Given the description of an element on the screen output the (x, y) to click on. 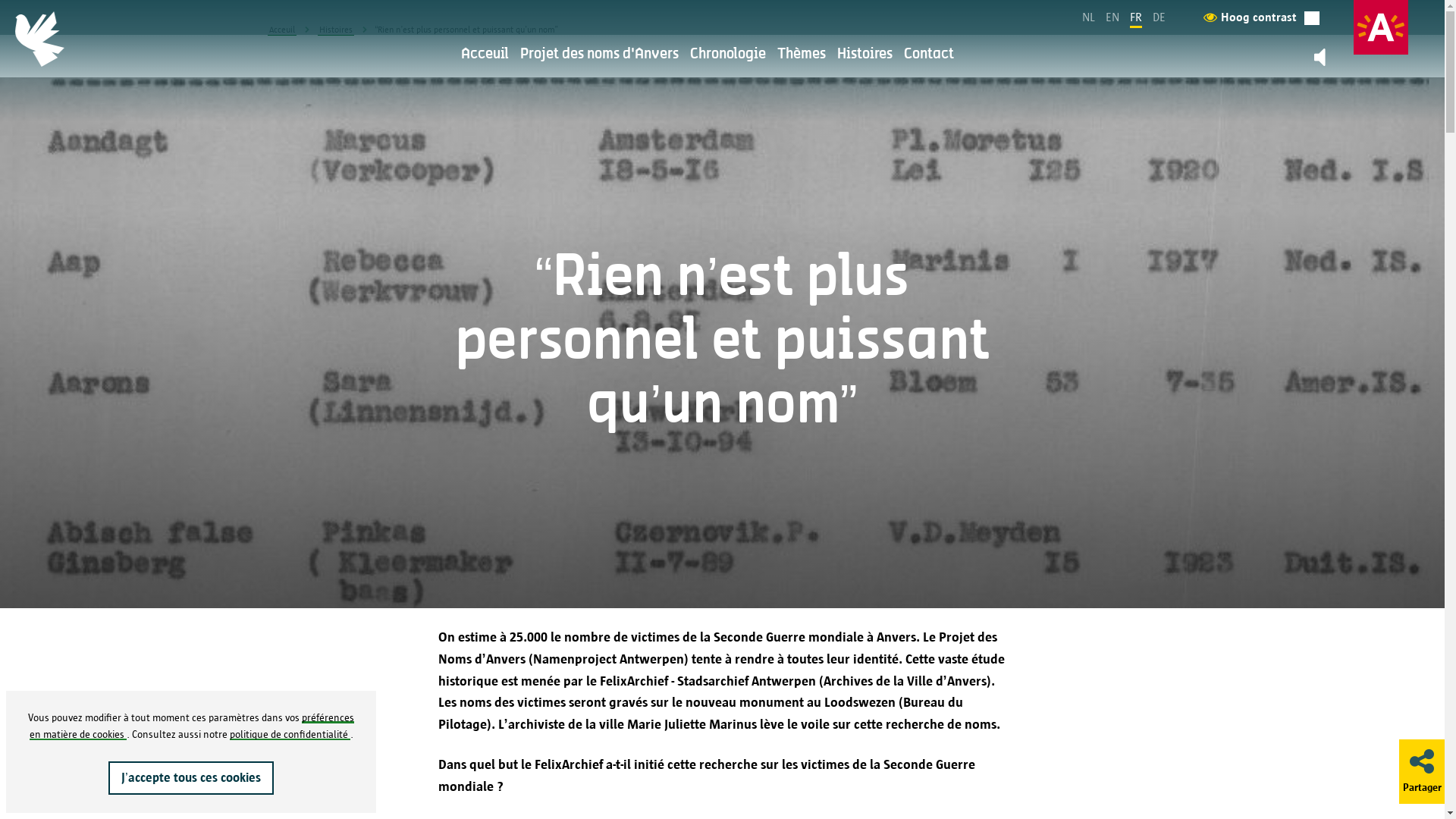
Projet des noms d'Anvers Element type: text (599, 54)
Partager Element type: text (1421, 770)
EN Element type: text (1112, 17)
Acceuil Element type: text (484, 54)
Acceuil Element type: text (280, 29)
Contact Element type: text (928, 54)
Histoires Element type: text (864, 54)
NL Element type: text (1088, 17)
Histoires Element type: text (334, 29)
Chronologie Element type: text (727, 54)
DE Element type: text (1158, 17)
